Given the description of an element on the screen output the (x, y) to click on. 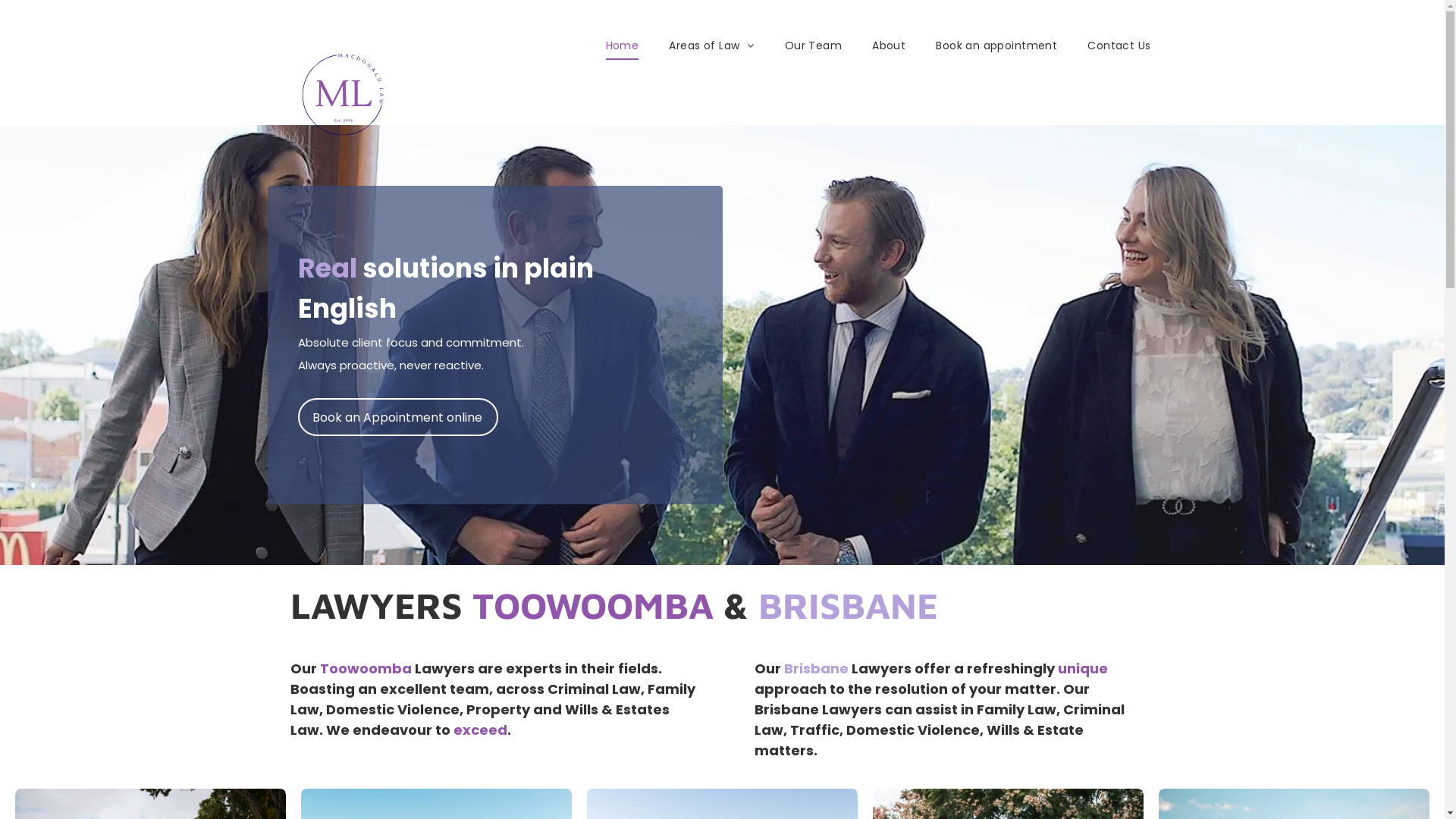
Book an appointment Element type: text (996, 45)
Book an Appointment online Element type: text (397, 417)
Areas of Law Element type: text (710, 45)
Our Team Element type: text (812, 45)
About Element type: text (888, 45)
Home Element type: text (622, 45)
Contact Us Element type: text (1118, 45)
